Given the description of an element on the screen output the (x, y) to click on. 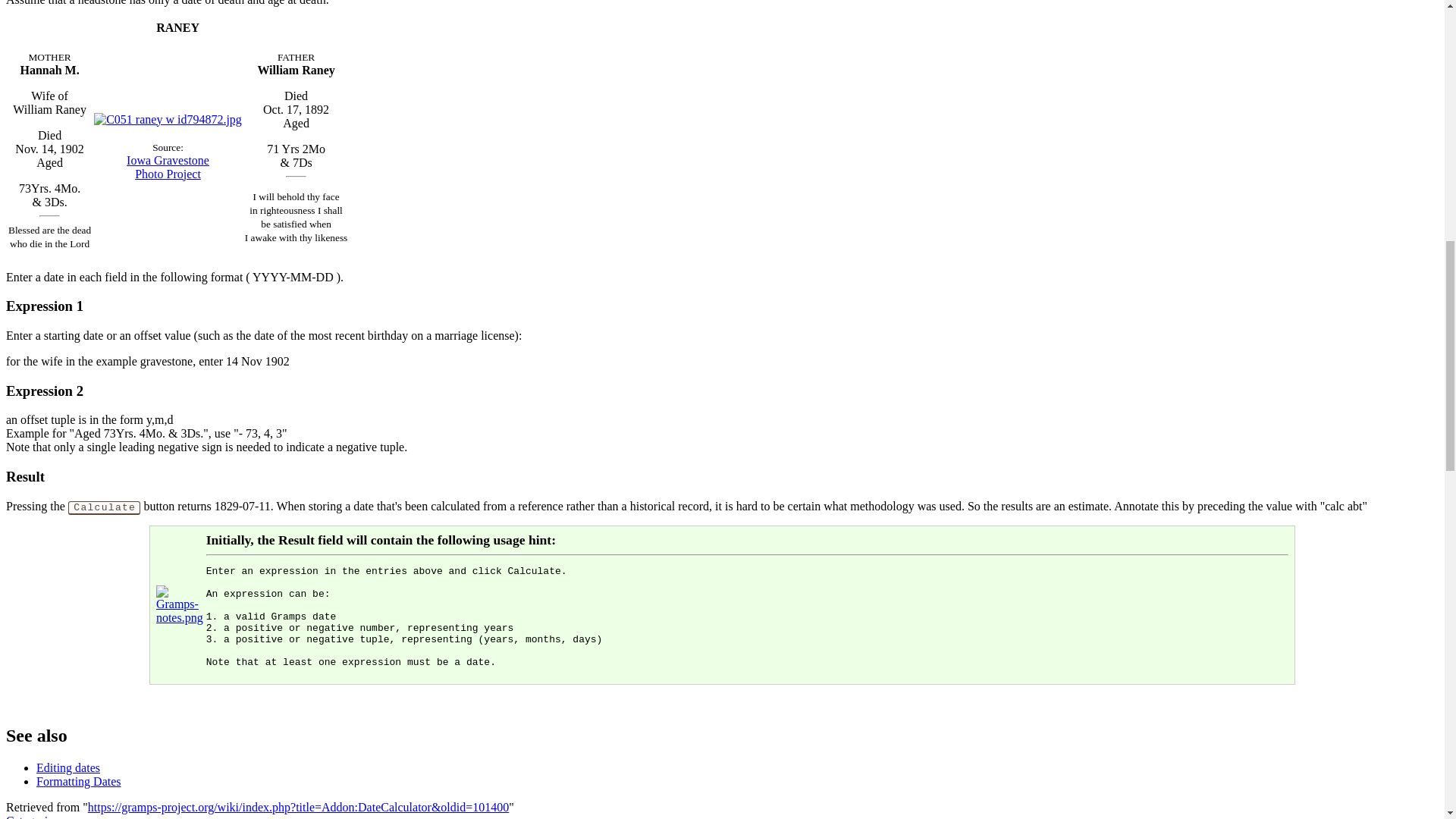
Gramps 5.2 Wiki Manual - Reports - part 2 (78, 780)
Categories (31, 816)
Editing dates (167, 166)
Formatting Dates (68, 767)
Special:Categories (78, 780)
